Given the description of an element on the screen output the (x, y) to click on. 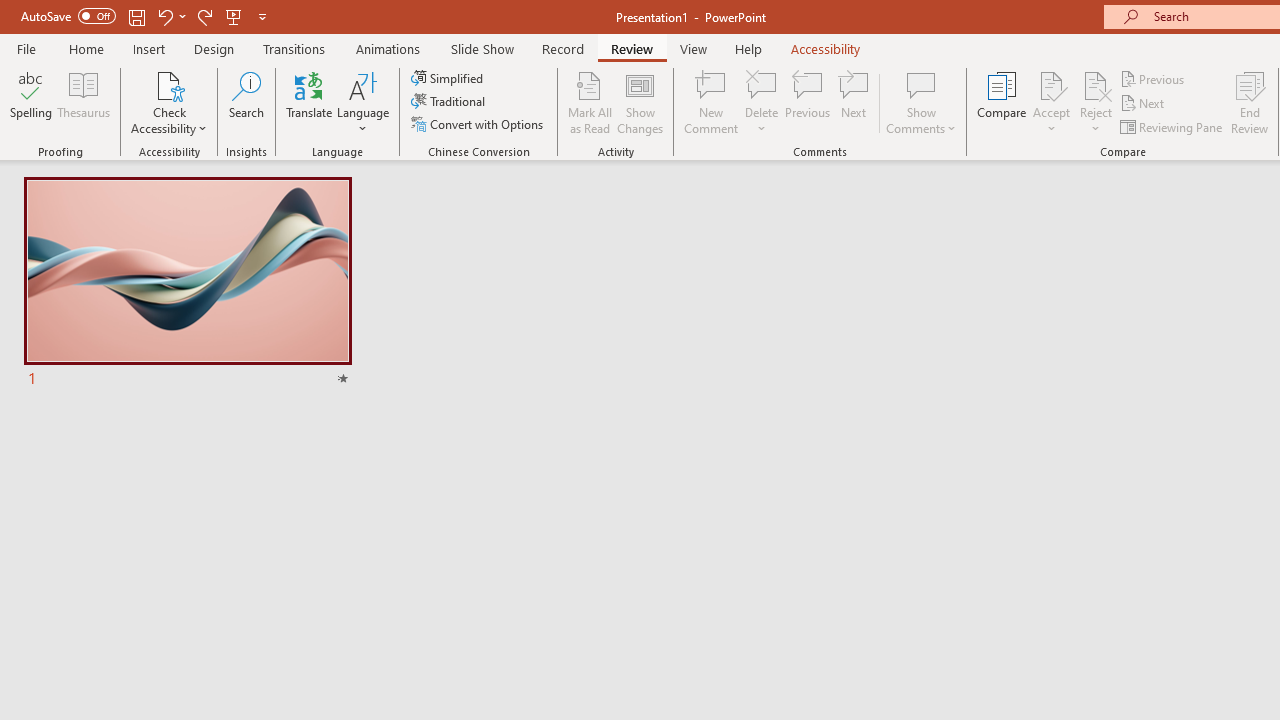
Thesaurus... (83, 102)
Traditional (449, 101)
New Comment (711, 102)
End Review (1249, 102)
Simplified (449, 78)
Language (363, 102)
Reject Change (1096, 84)
